Given the description of an element on the screen output the (x, y) to click on. 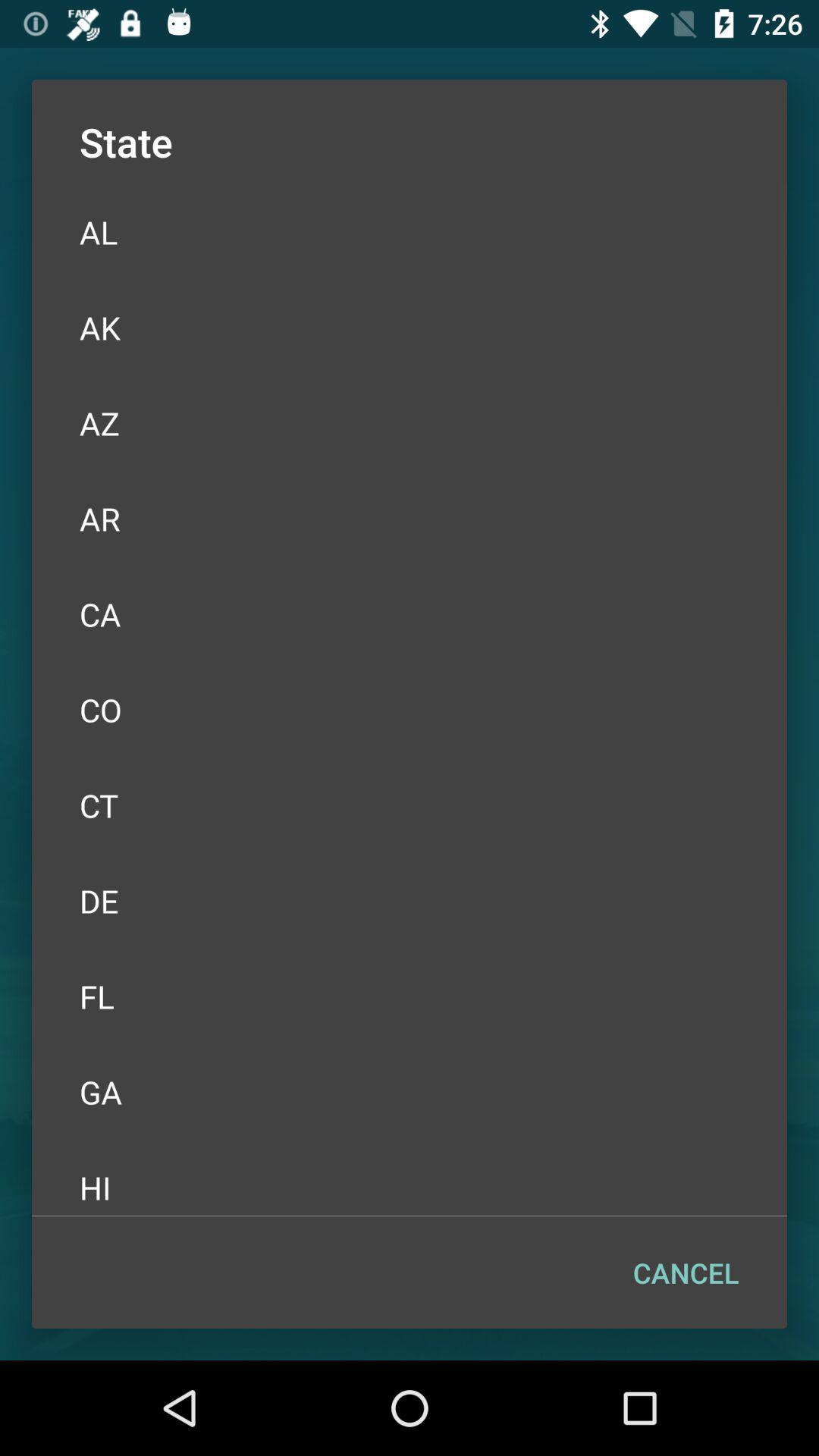
select the hi (409, 1178)
